Given the description of an element on the screen output the (x, y) to click on. 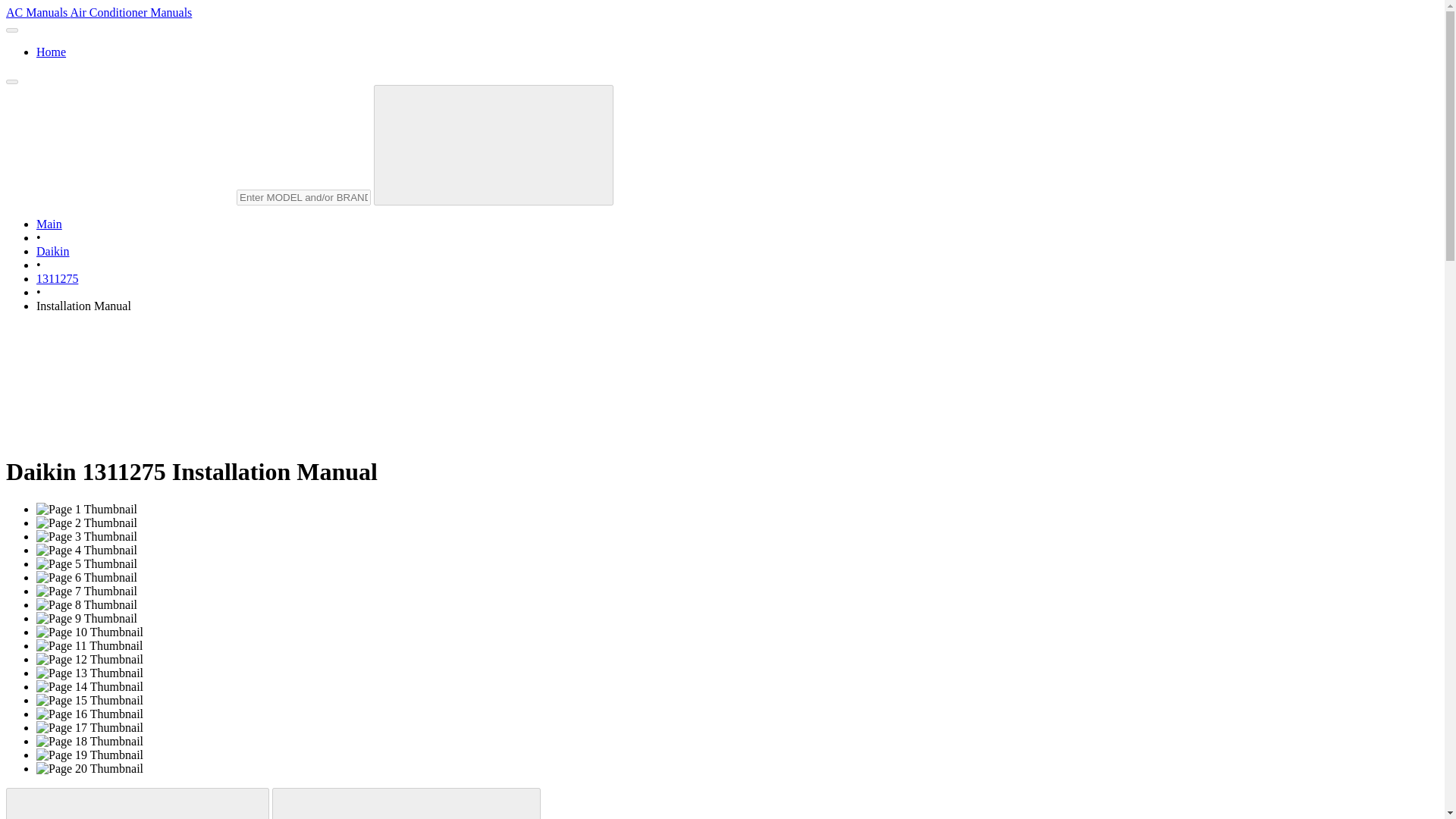
Print (137, 803)
1311275 (57, 278)
Zoom in (406, 803)
AC Manuals Air Conditioner Manuals (98, 11)
Home (50, 51)
Daikin (52, 250)
Main (49, 223)
Print (137, 803)
